Given the description of an element on the screen output the (x, y) to click on. 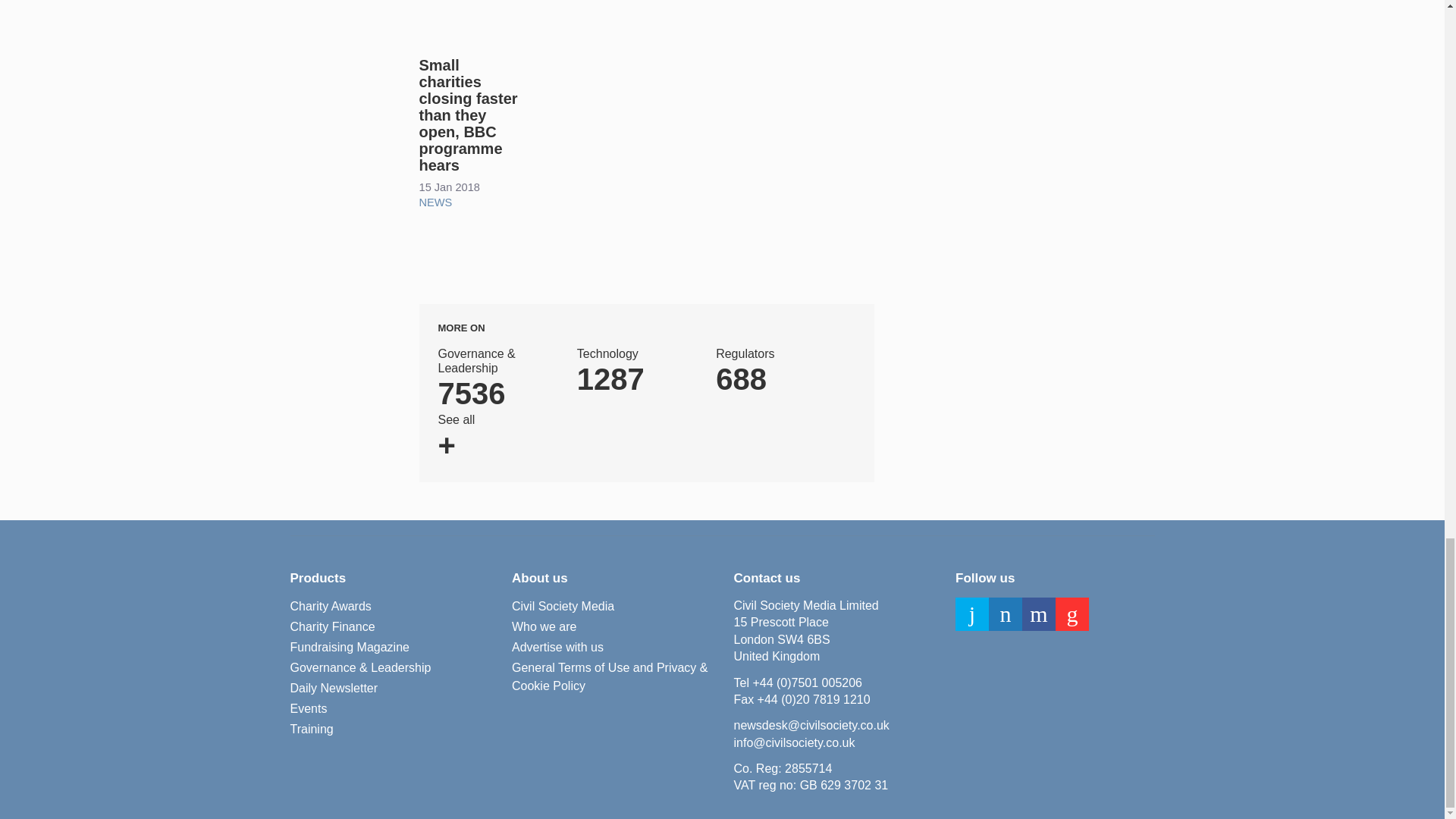
Fundraising Magazine (349, 647)
Events (307, 709)
Daily Newsletter (333, 688)
Who we are (544, 627)
NEWS (435, 201)
Civil Society Media (563, 606)
Advertise with us (558, 647)
Charity Awards (330, 606)
Training (775, 371)
Charity Finance (311, 729)
